Given the description of an element on the screen output the (x, y) to click on. 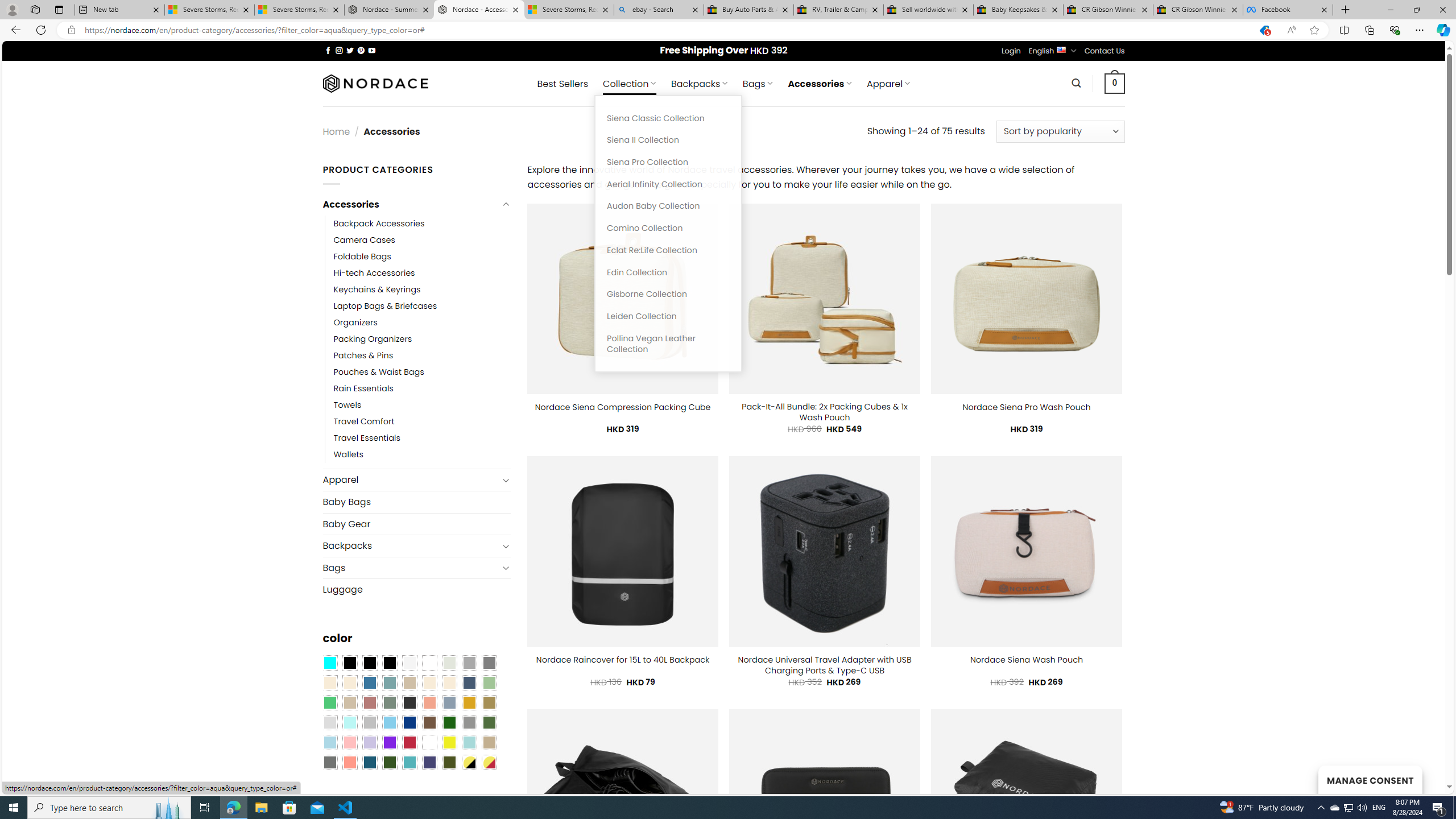
Beige-Brown (349, 681)
Audon Baby Collection (668, 205)
Hi-tech Accessories (422, 272)
Siena Pro Collection (668, 162)
Apparel (410, 479)
Caramel (429, 681)
Charcoal (408, 702)
Light Blue (329, 741)
Light Taupe (349, 702)
